Given the description of an element on the screen output the (x, y) to click on. 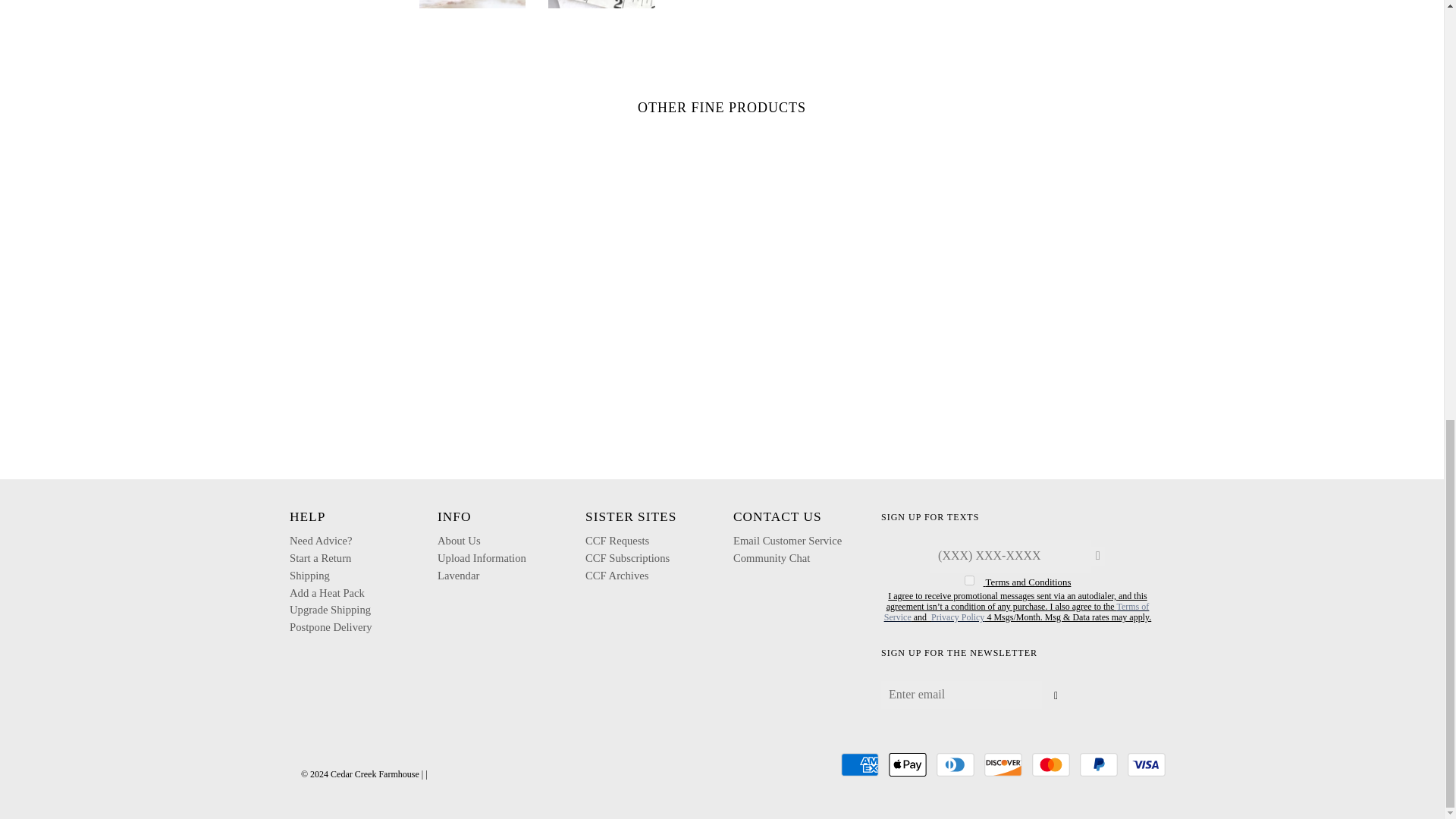
Echeveria 'Paradox' (601, 4)
Echeveria 'Paradox' (472, 4)
Echeveria 'Paradox' (342, 4)
on (968, 580)
